Given the description of an element on the screen output the (x, y) to click on. 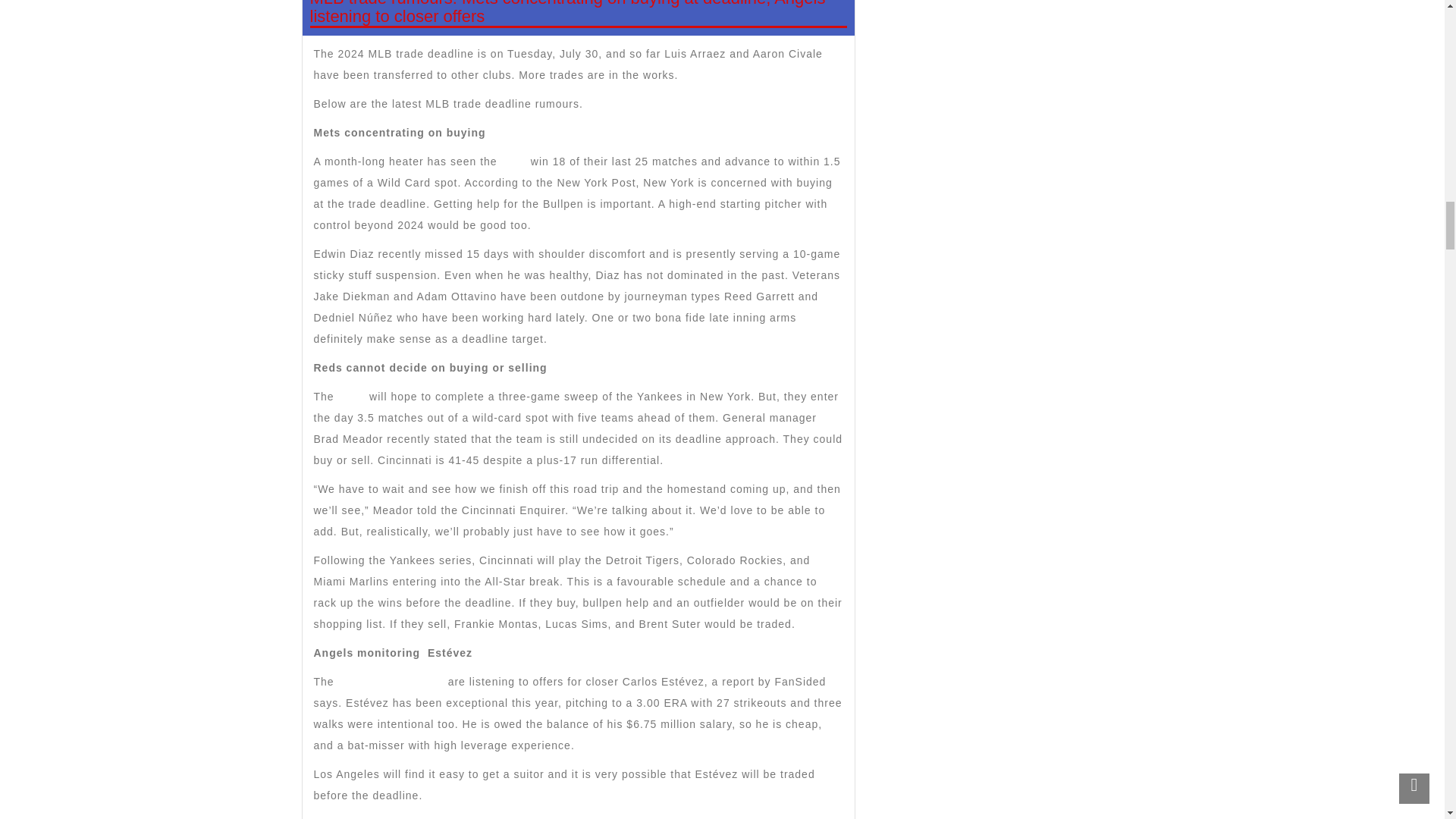
Los Angeles Angels (392, 681)
Reds (351, 396)
Mets (513, 161)
